Given the description of an element on the screen output the (x, y) to click on. 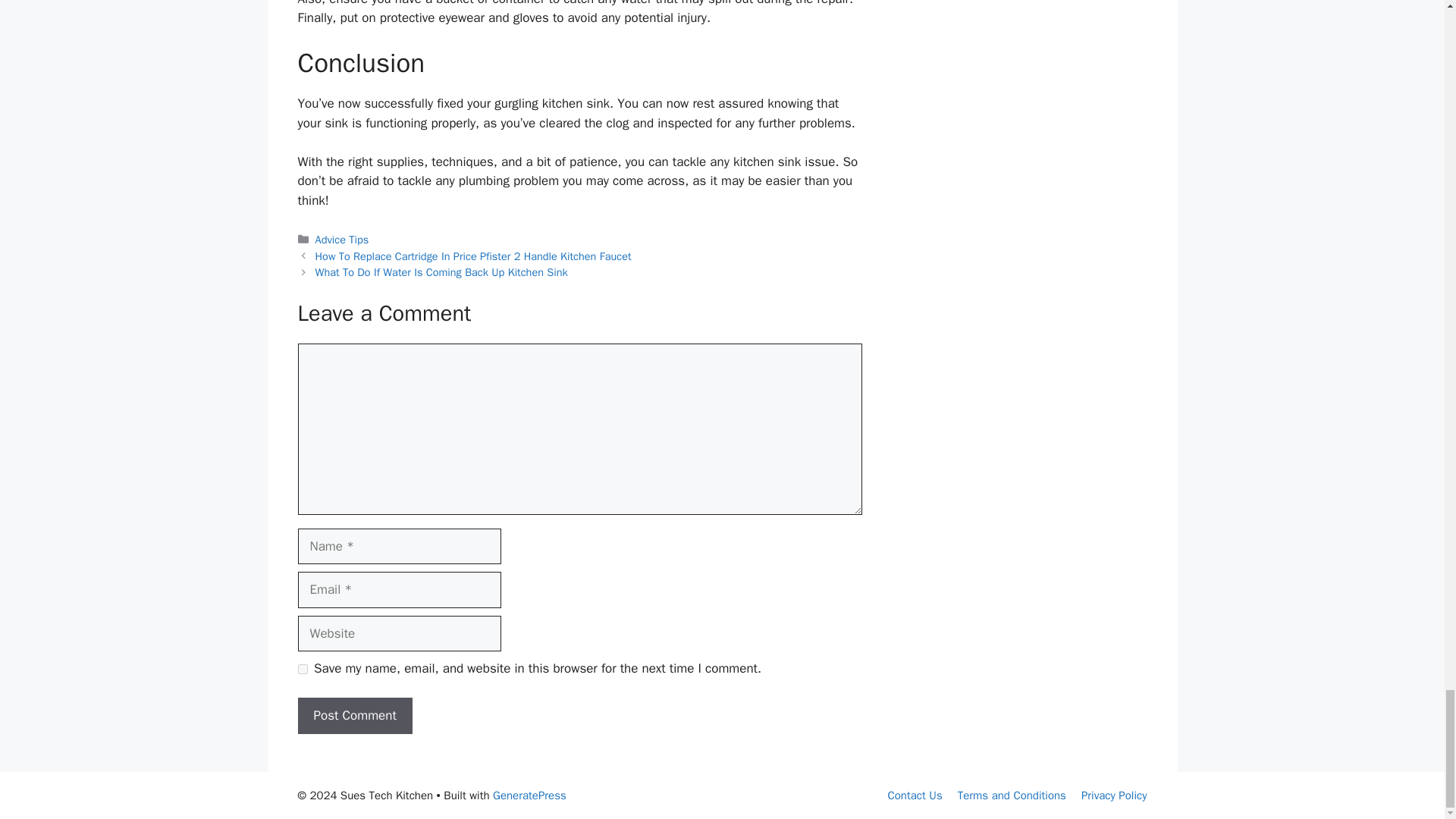
Post Comment (354, 715)
Post Comment (354, 715)
What To Do If Water Is Coming Back Up Kitchen Sink (441, 272)
Advice Tips (342, 239)
yes (302, 669)
